Given the description of an element on the screen output the (x, y) to click on. 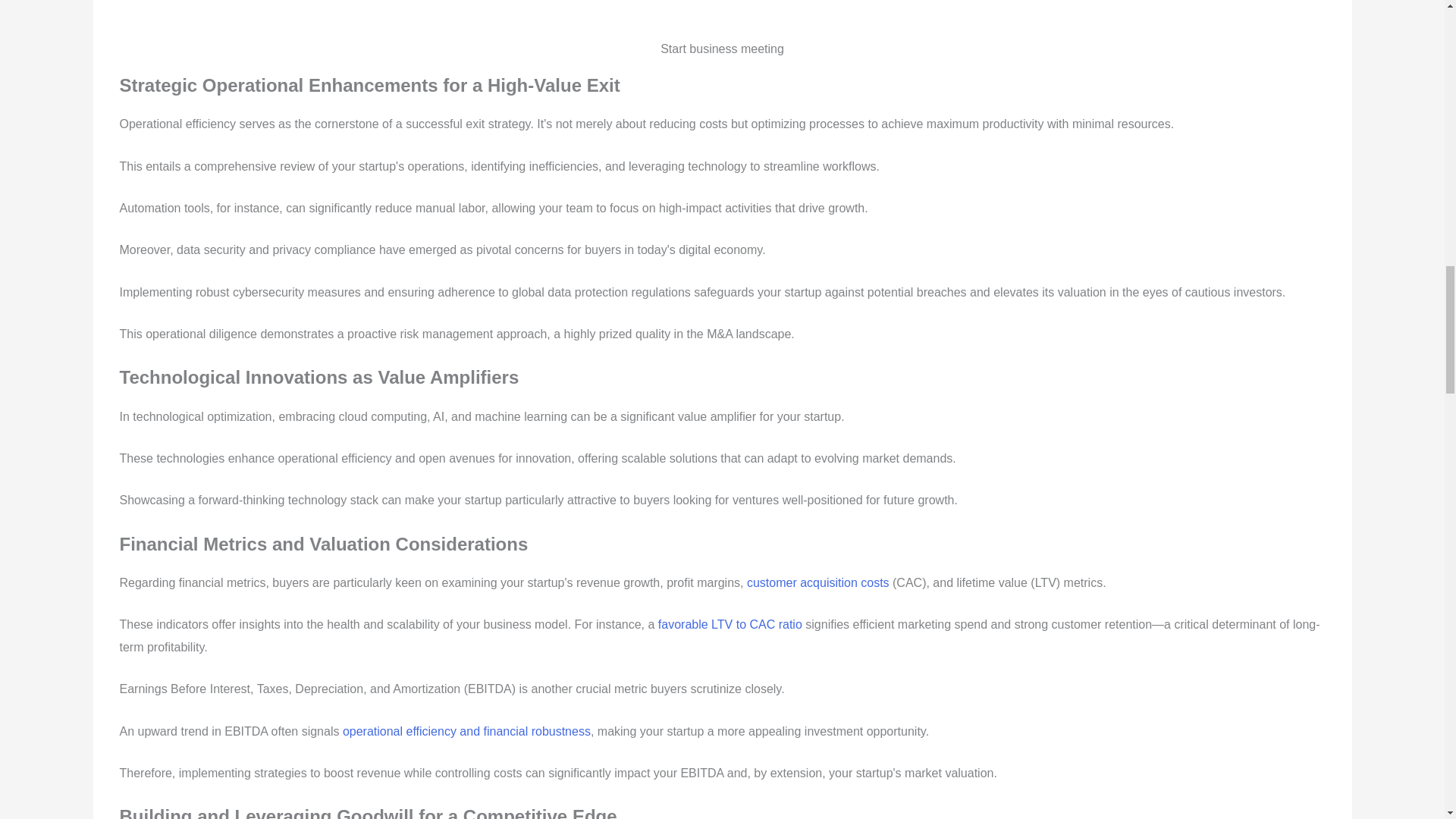
favorable LTV to CAC ratio (730, 624)
operational efficiency and financial robustness (466, 730)
customer acquisition costs (817, 582)
